Given the description of an element on the screen output the (x, y) to click on. 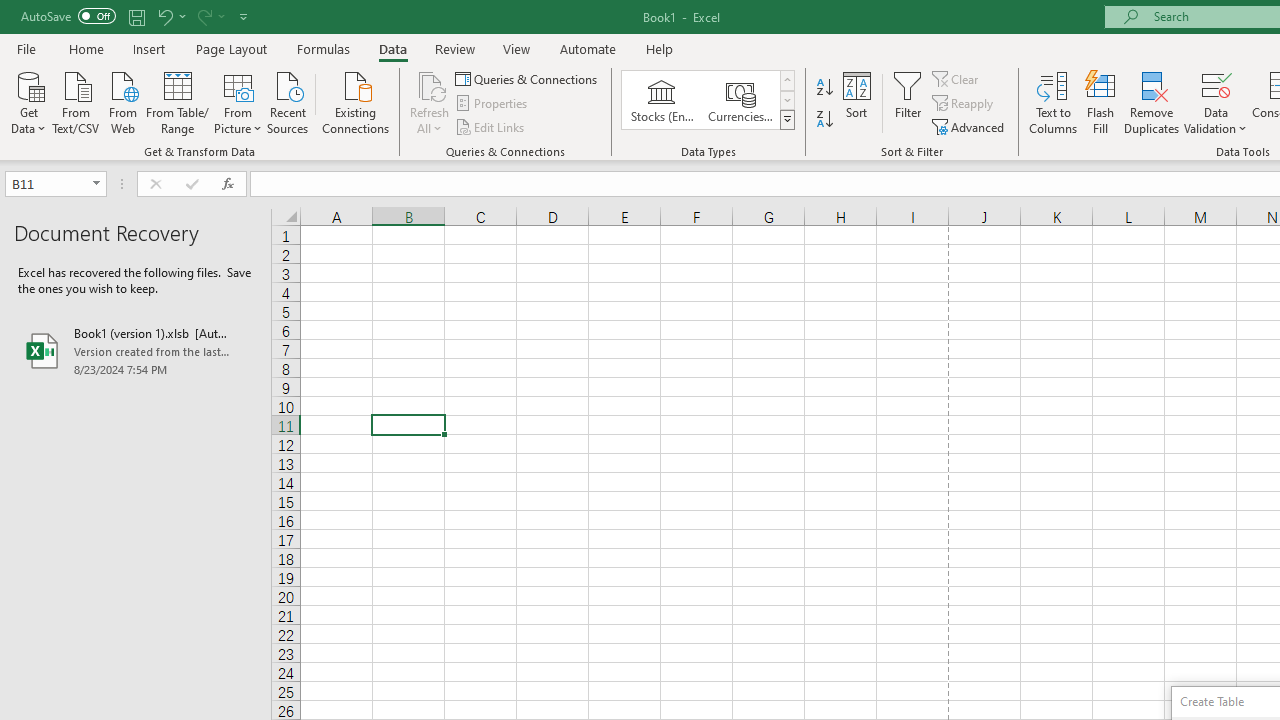
Text to Columns... (1053, 102)
From Table/Range (177, 101)
Refresh All (429, 84)
Recent Sources (287, 101)
Data Validation... (1215, 84)
Clear (957, 78)
From Picture (238, 101)
